Given the description of an element on the screen output the (x, y) to click on. 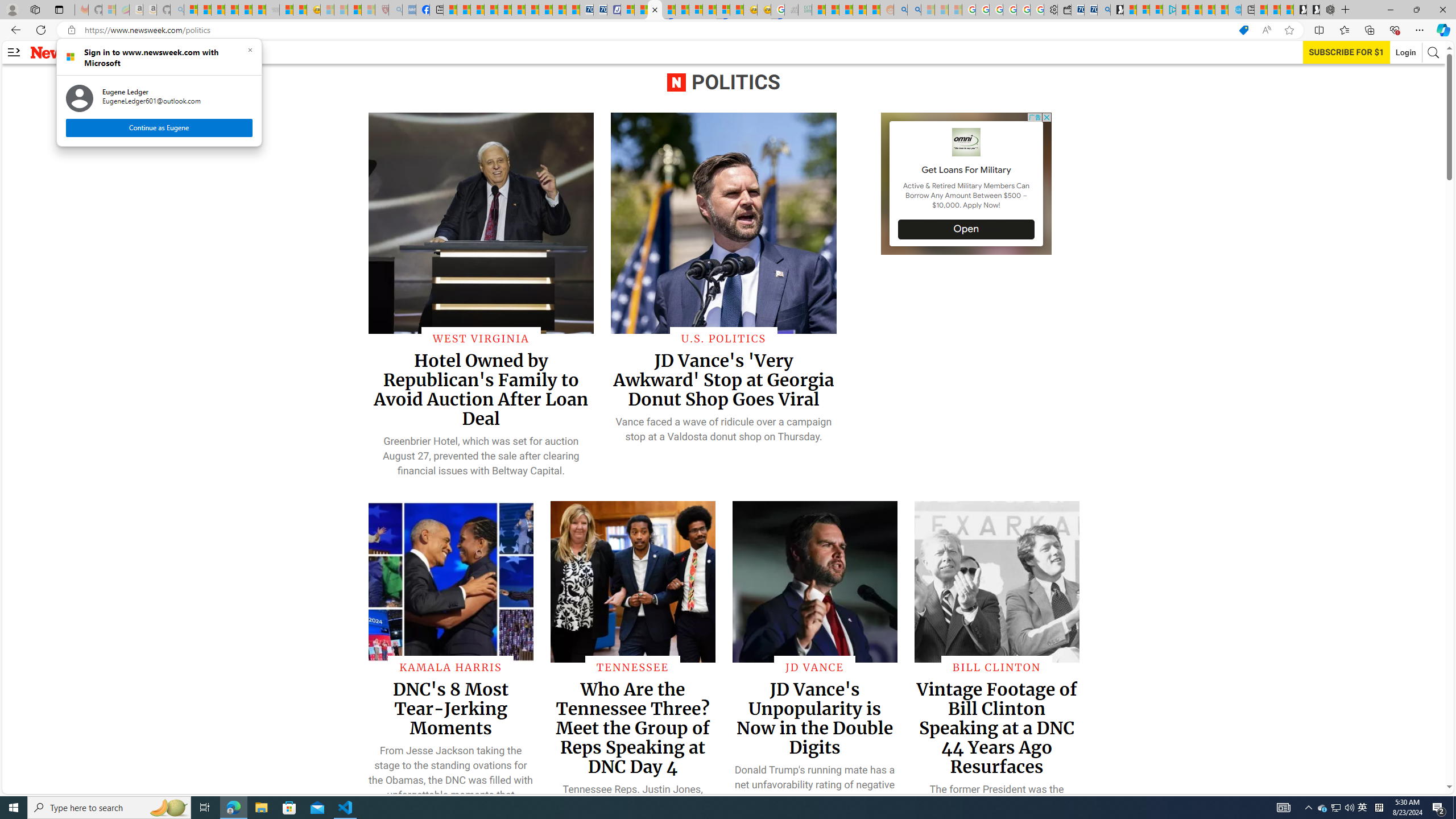
AutomationID: side-arrow (13, 51)
Notification Chevron (1308, 807)
JD VANCE (814, 667)
